Given the description of an element on the screen output the (x, y) to click on. 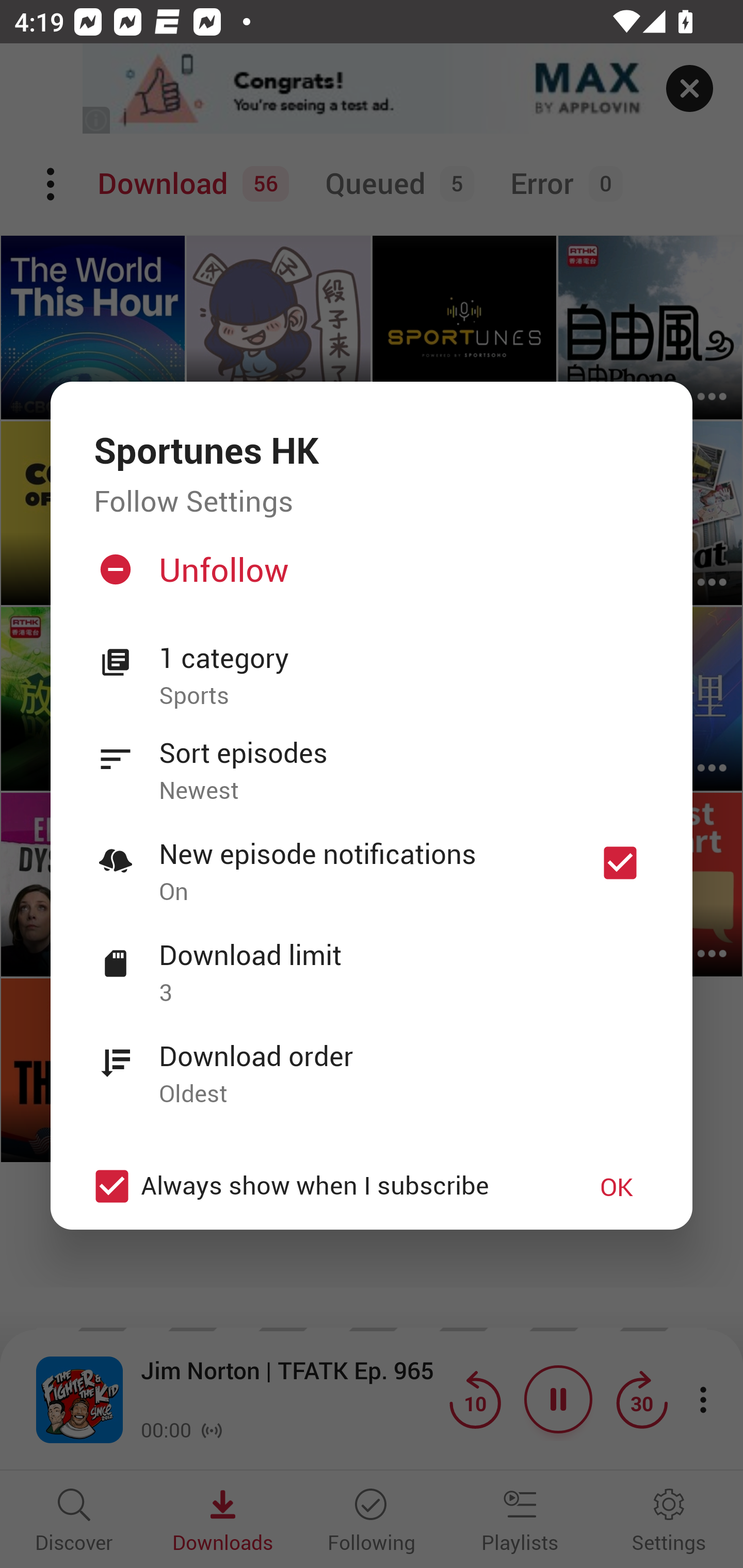
Unfollow (369, 576)
1 category (404, 658)
Sports (404, 696)
Sort episodes Newest (371, 760)
New episode notifications (620, 863)
Download limit 3 (371, 962)
Download order Oldest (371, 1063)
OK (616, 1186)
Always show when I subscribe (320, 1186)
